Given the description of an element on the screen output the (x, y) to click on. 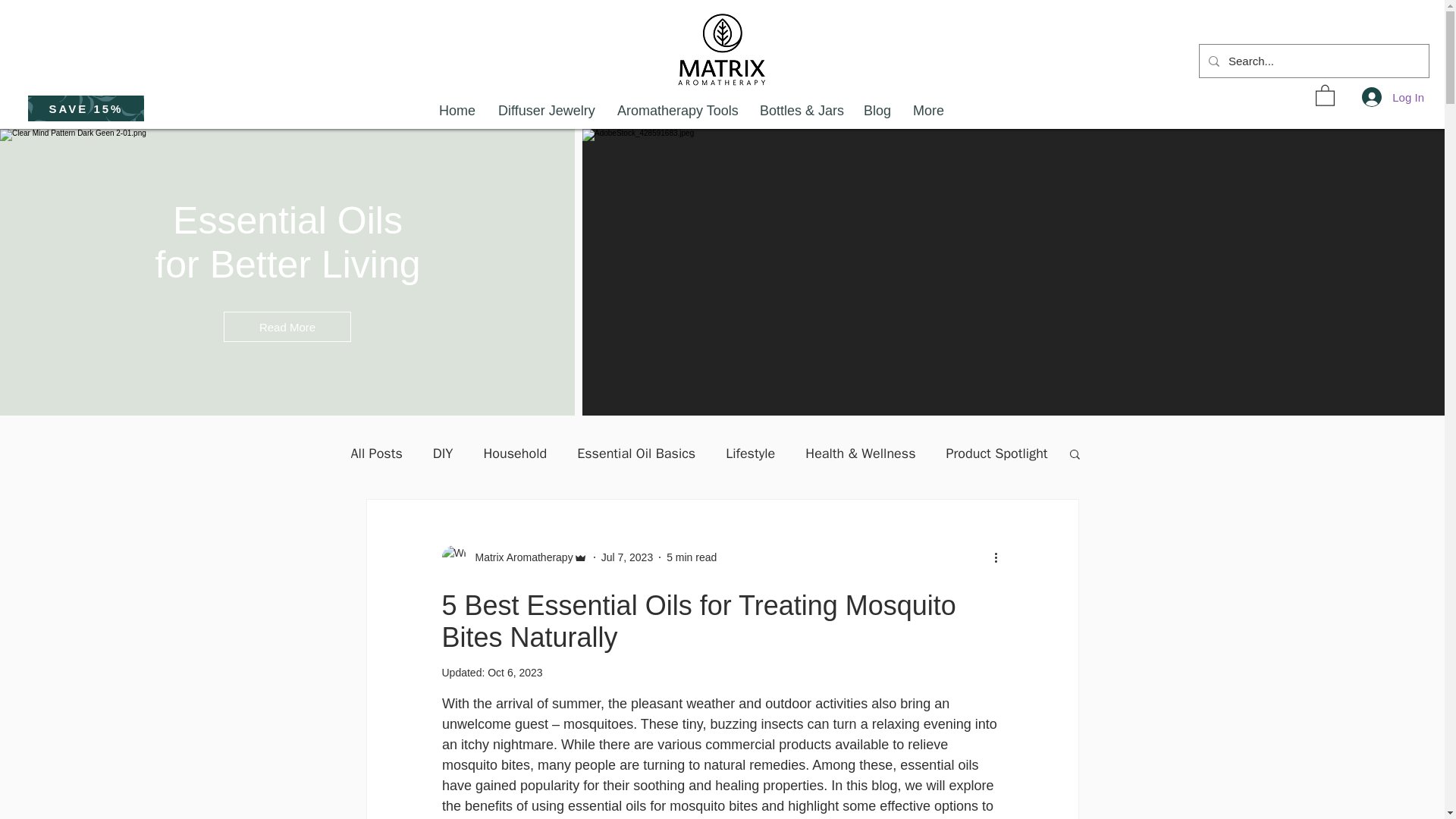
Aromatherapy Tools (676, 110)
Product Spotlight (997, 453)
DIY (442, 453)
5 min read (691, 556)
Household (515, 453)
Jul 7, 2023 (627, 556)
Matrix Aromatherapy (518, 556)
Essential Oil Basics (635, 453)
Oct 6, 2023 (514, 672)
Diffuser Jewelry (545, 110)
